Given the description of an element on the screen output the (x, y) to click on. 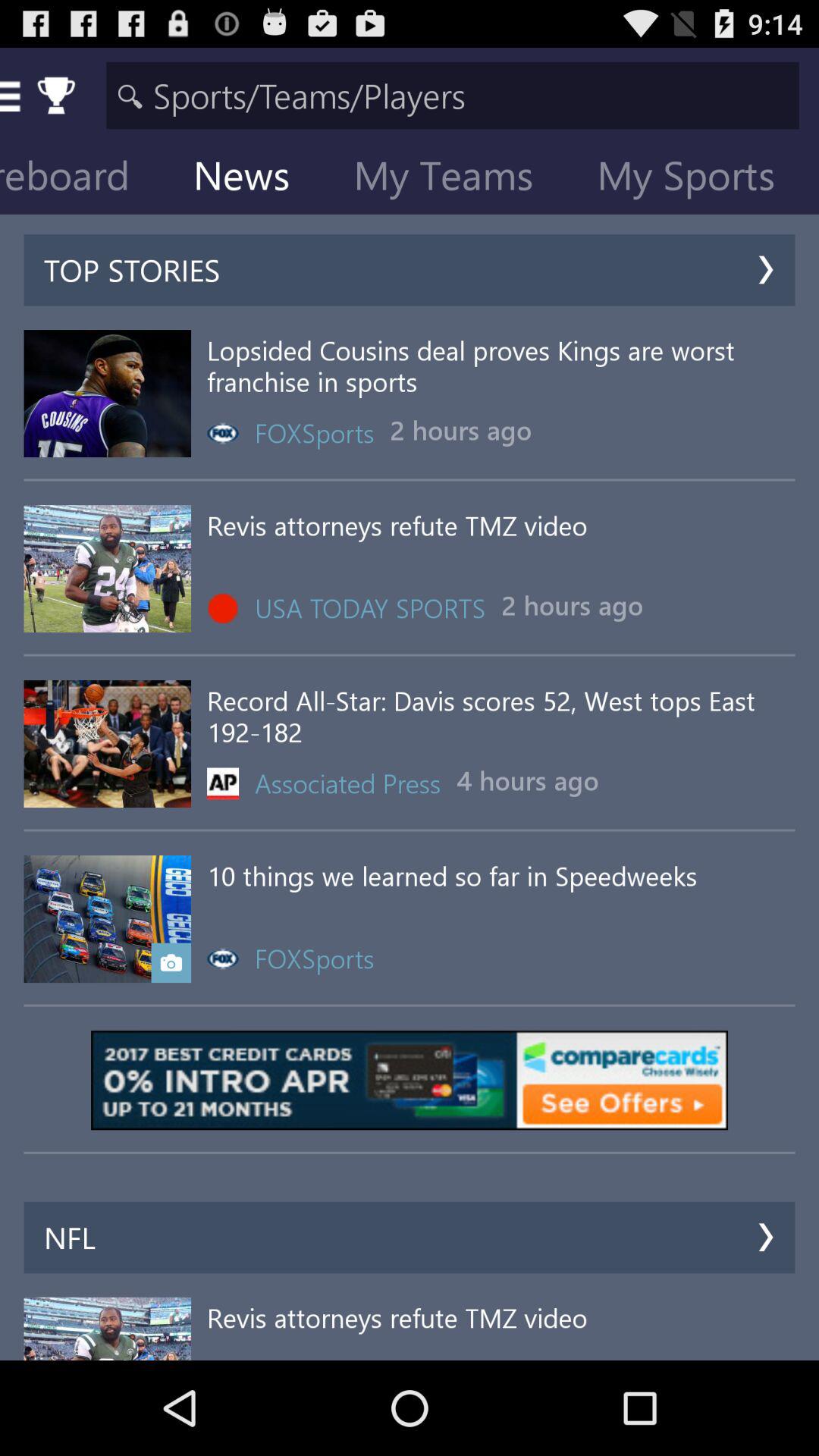
choose the icon next to the news icon (455, 178)
